Given the description of an element on the screen output the (x, y) to click on. 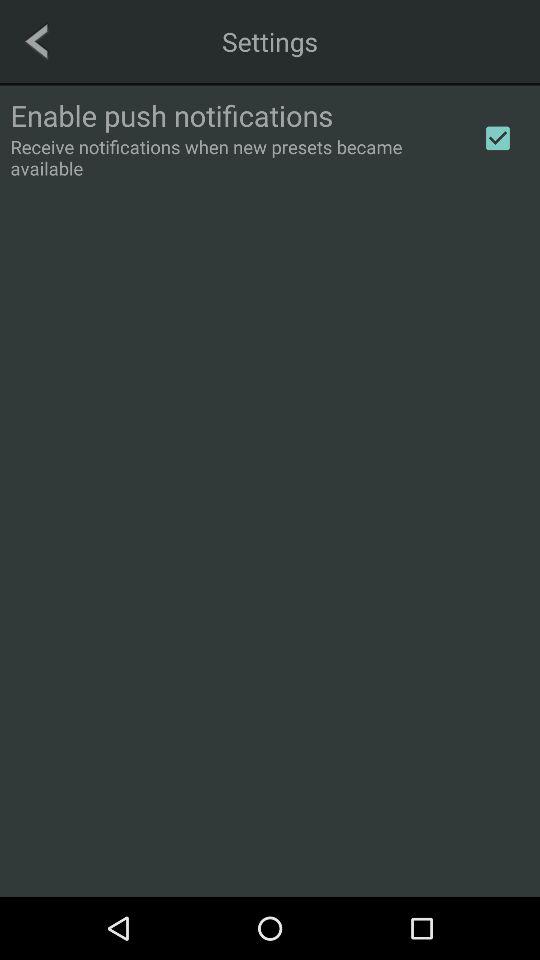
go back (36, 41)
